Given the description of an element on the screen output the (x, y) to click on. 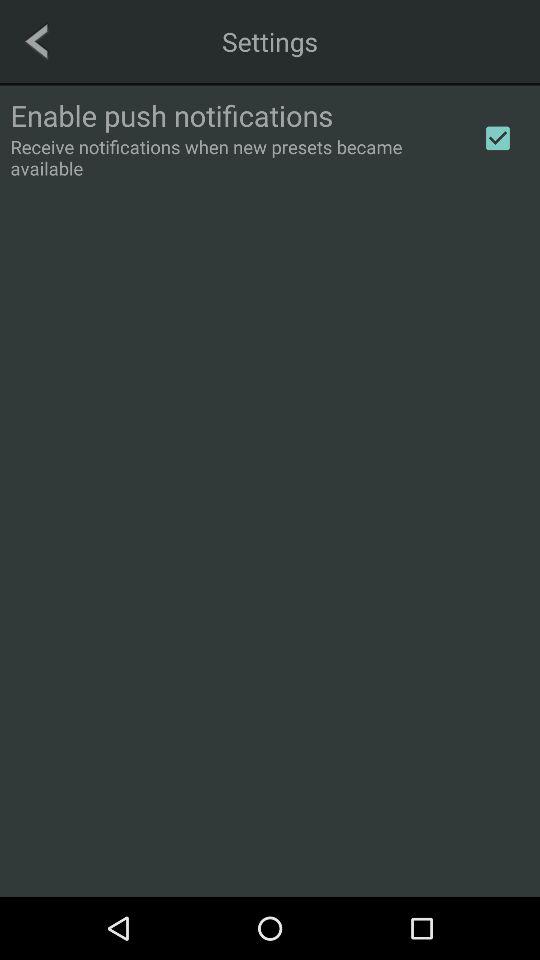
go back (36, 41)
